Given the description of an element on the screen output the (x, y) to click on. 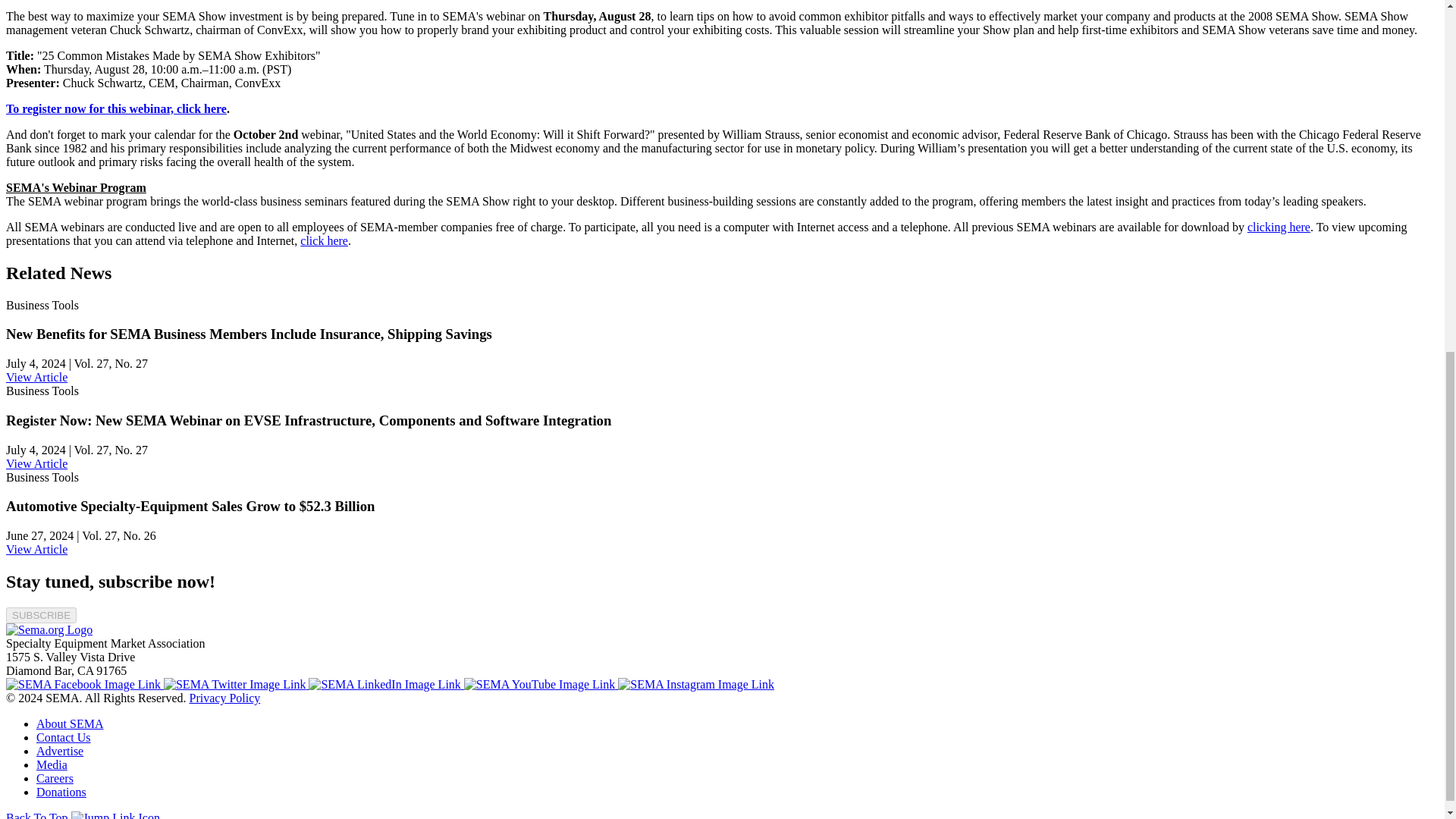
SEMA LinkedIn Link (385, 684)
clicking here (1278, 226)
To register now for this webinar, (90, 108)
View Article (35, 463)
click here (323, 240)
SEMA Facebook Link (84, 684)
SEMA Instagram Link (695, 684)
View Article (35, 549)
click here (201, 108)
SEMA YouTube Link (540, 684)
View Article (35, 377)
SUBSCRIBE (41, 615)
SEMA Twitter Link (235, 684)
